Given the description of an element on the screen output the (x, y) to click on. 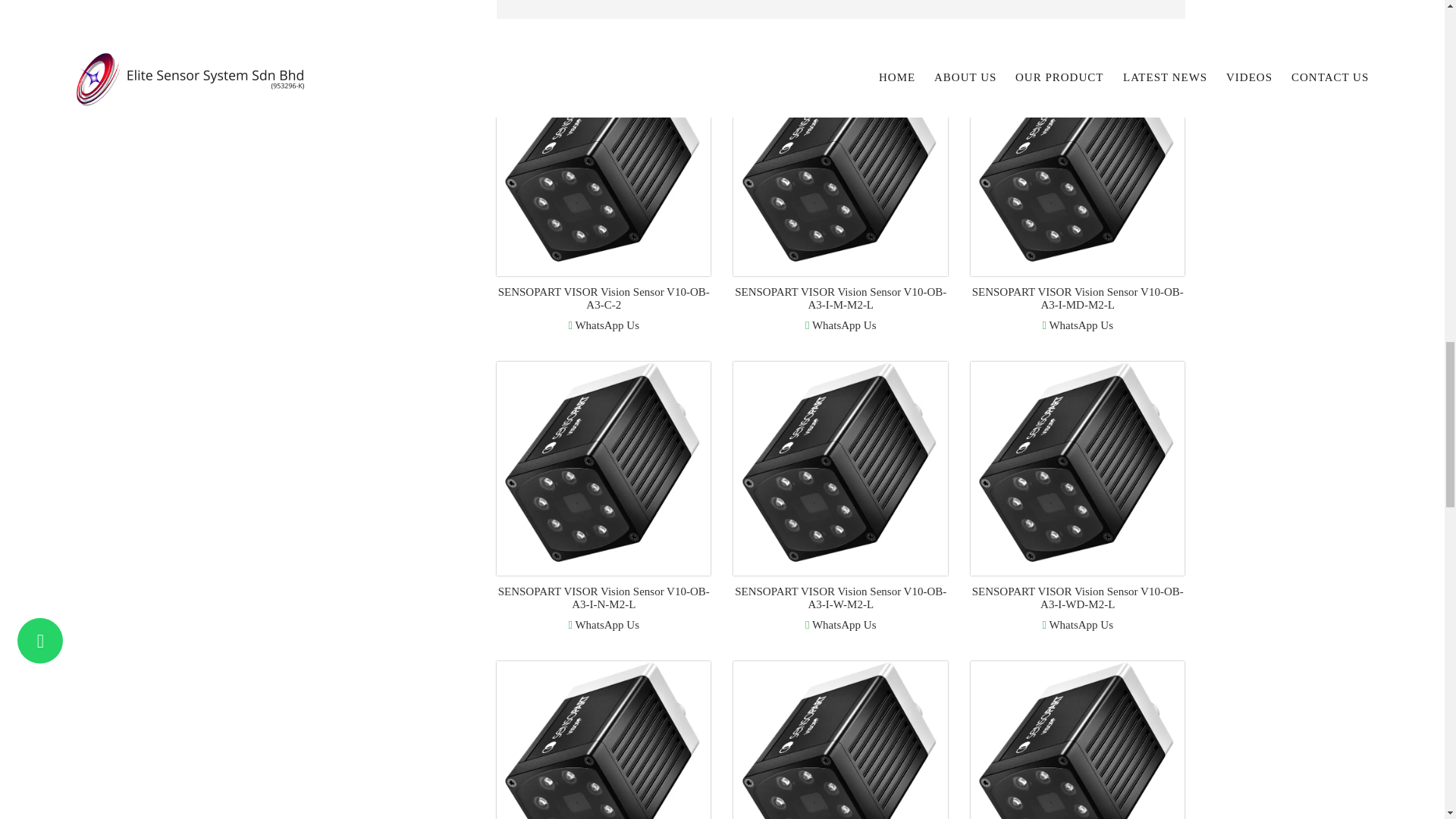
 WhatsApp Us (603, 325)
SENSOPART VISOR Vision Sensor V10-OB-A3-C-2 (603, 298)
